Given the description of an element on the screen output the (x, y) to click on. 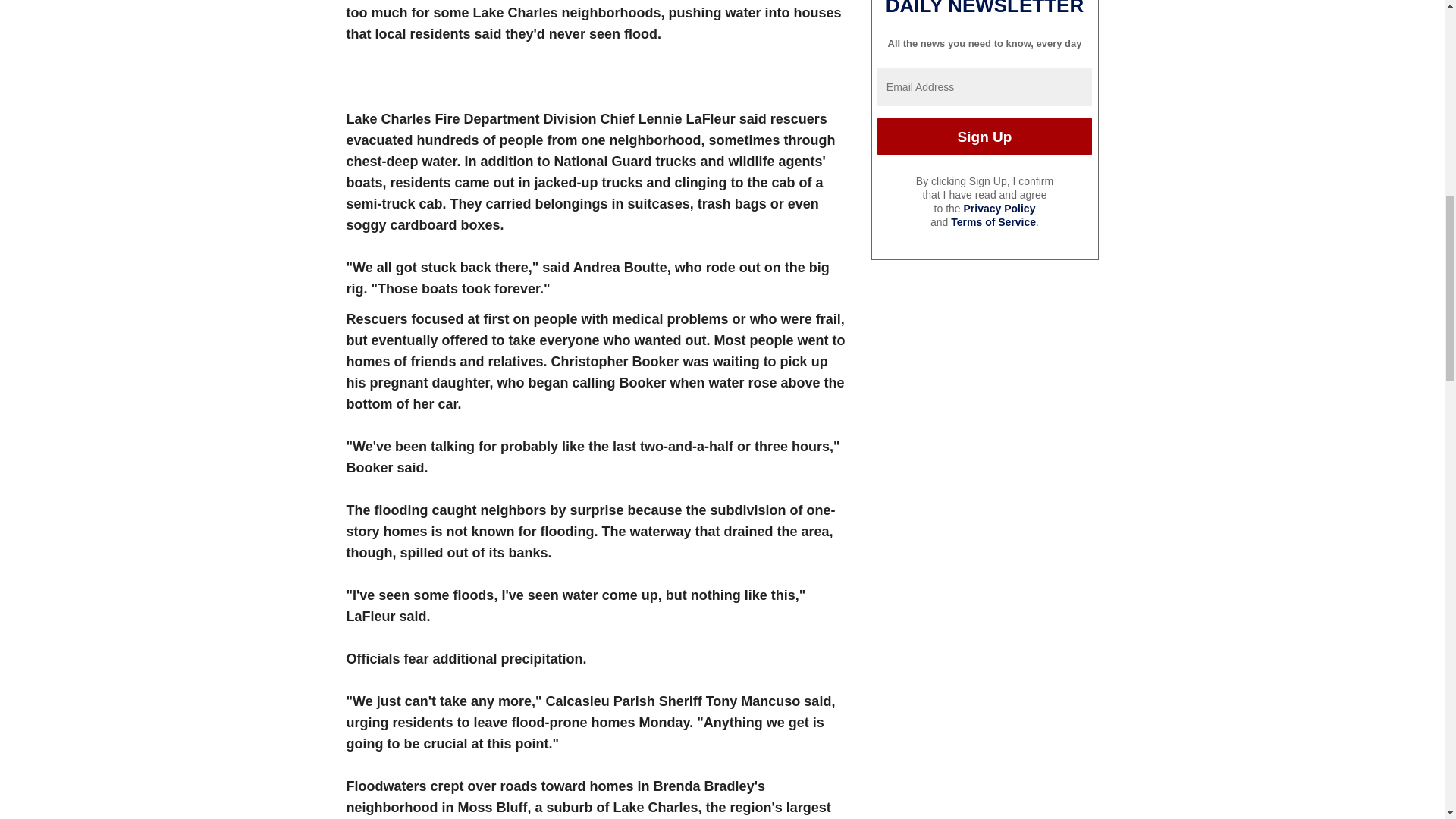
Sign Up (984, 136)
